Given the description of an element on the screen output the (x, y) to click on. 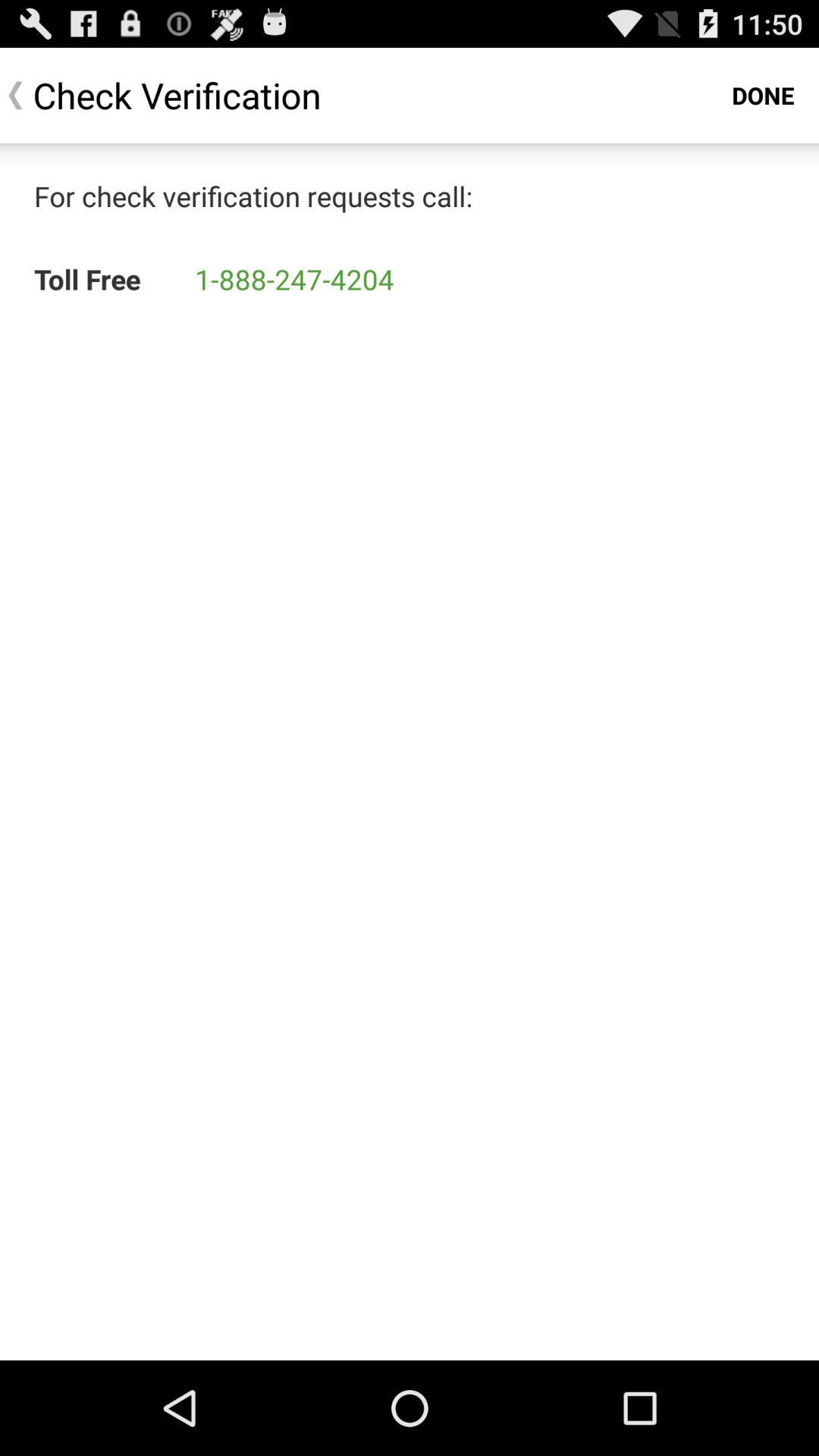
select the app next to the check verification (763, 95)
